Given the description of an element on the screen output the (x, y) to click on. 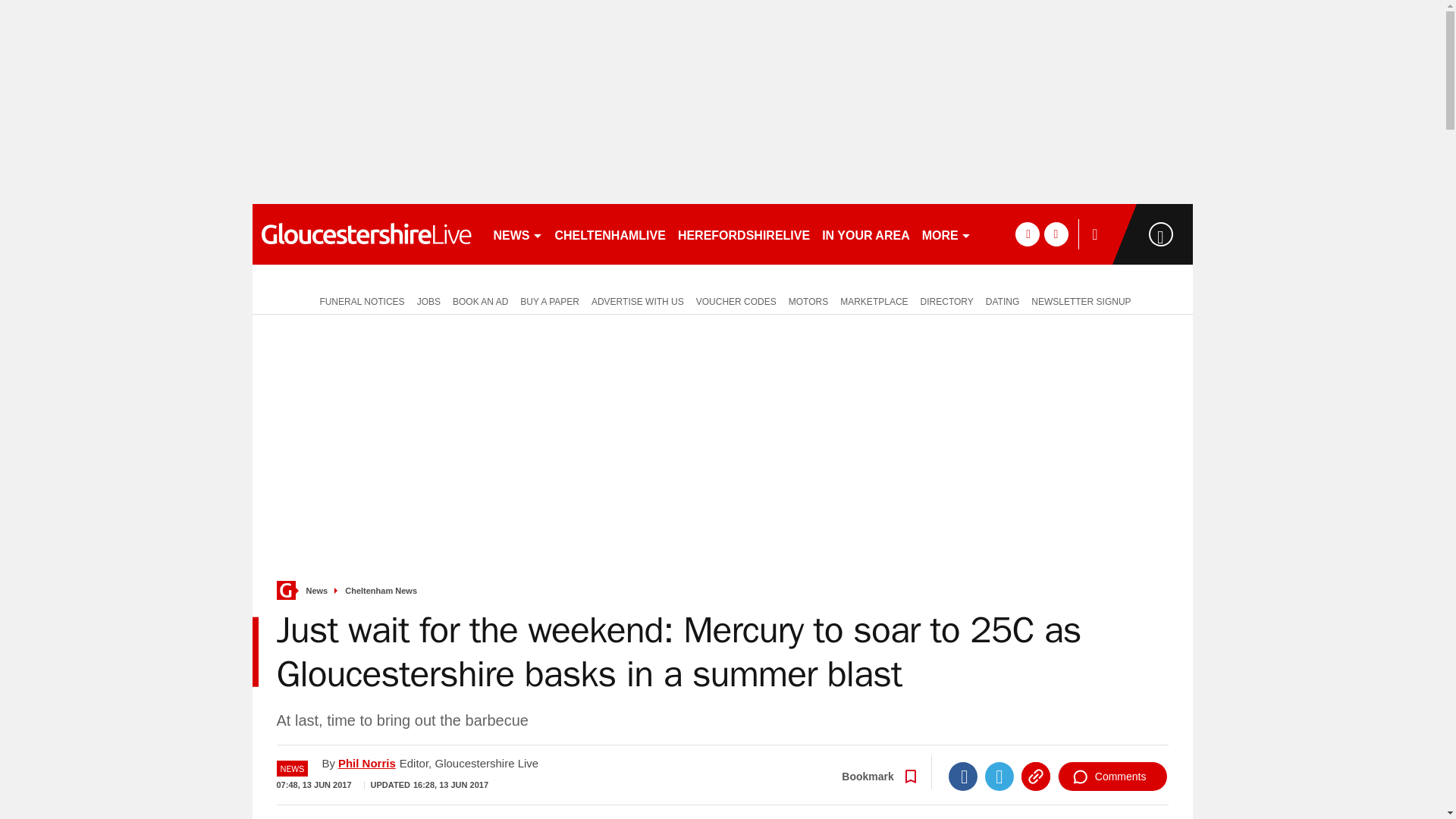
IN YOUR AREA (865, 233)
MORE (945, 233)
Facebook (962, 776)
NEWS (517, 233)
Twitter (999, 776)
facebook (1026, 233)
gloucestershirelive (365, 233)
HEREFORDSHIRELIVE (743, 233)
CHELTENHAMLIVE (609, 233)
twitter (1055, 233)
